Given the description of an element on the screen output the (x, y) to click on. 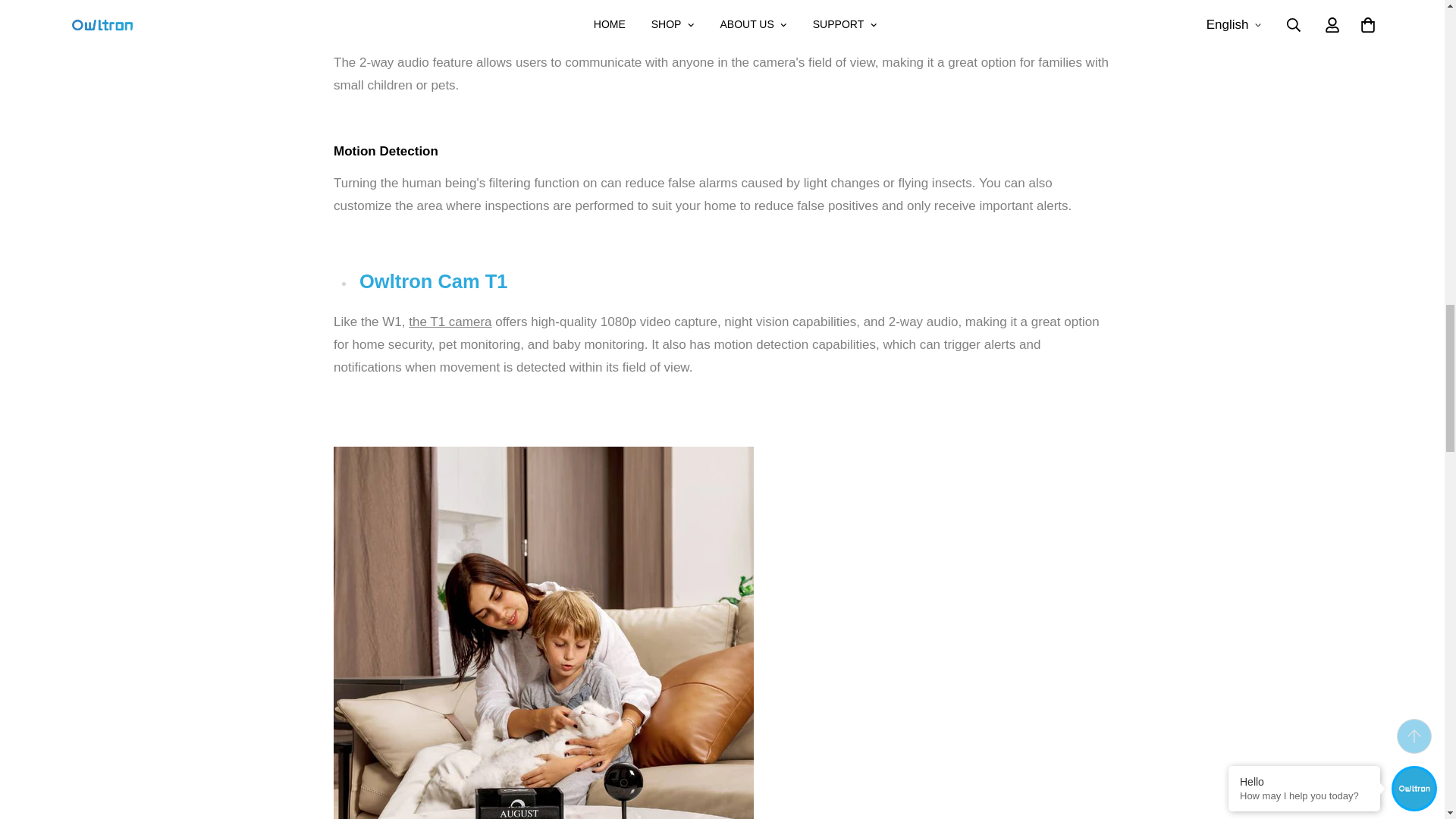
Owltron Cam T1 for Canada (450, 321)
